Given the description of an element on the screen output the (x, y) to click on. 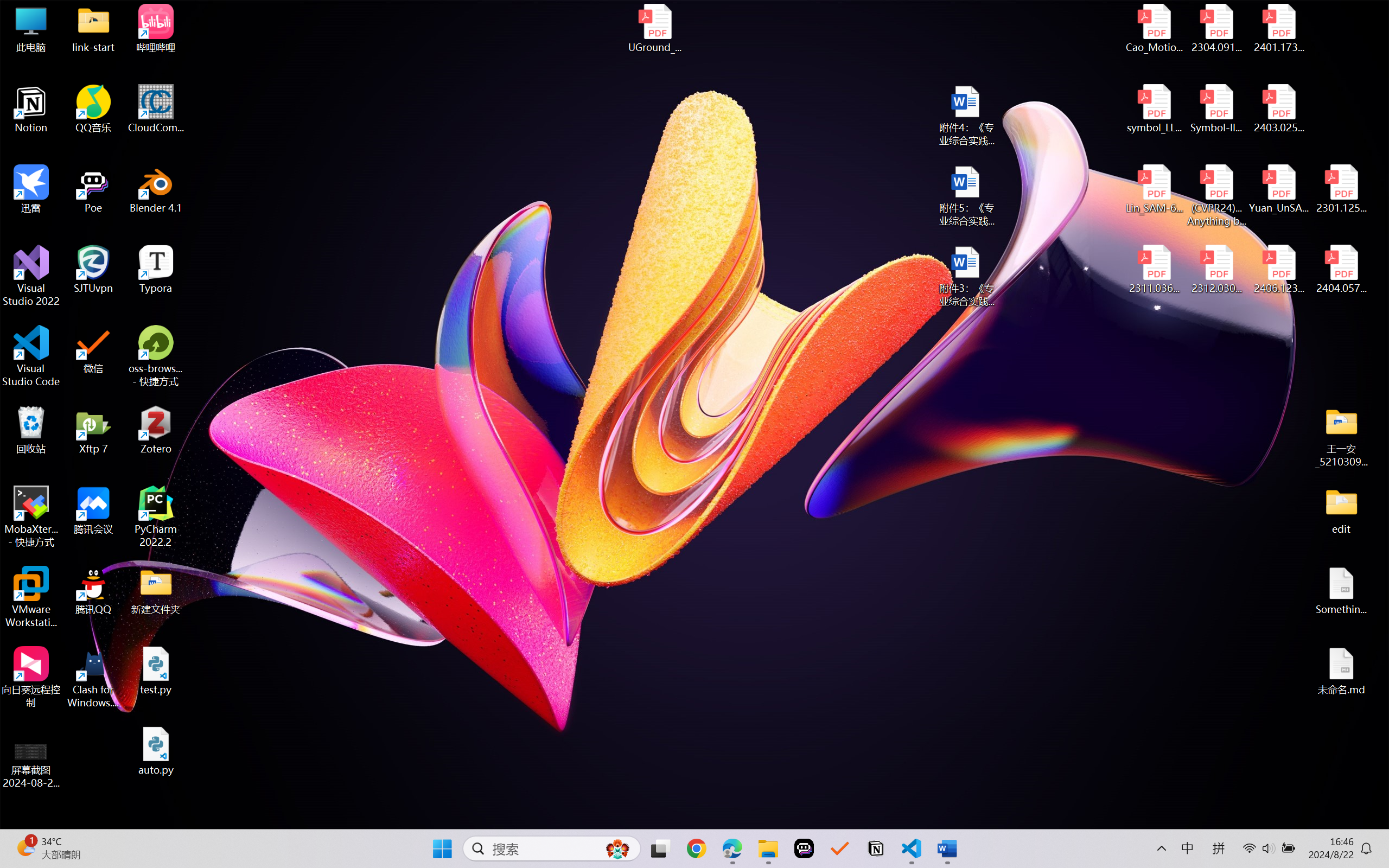
CloudCompare (156, 109)
2301.12597v3.pdf (1340, 189)
Blender 4.1 (156, 189)
test.py (156, 670)
